Given the description of an element on the screen output the (x, y) to click on. 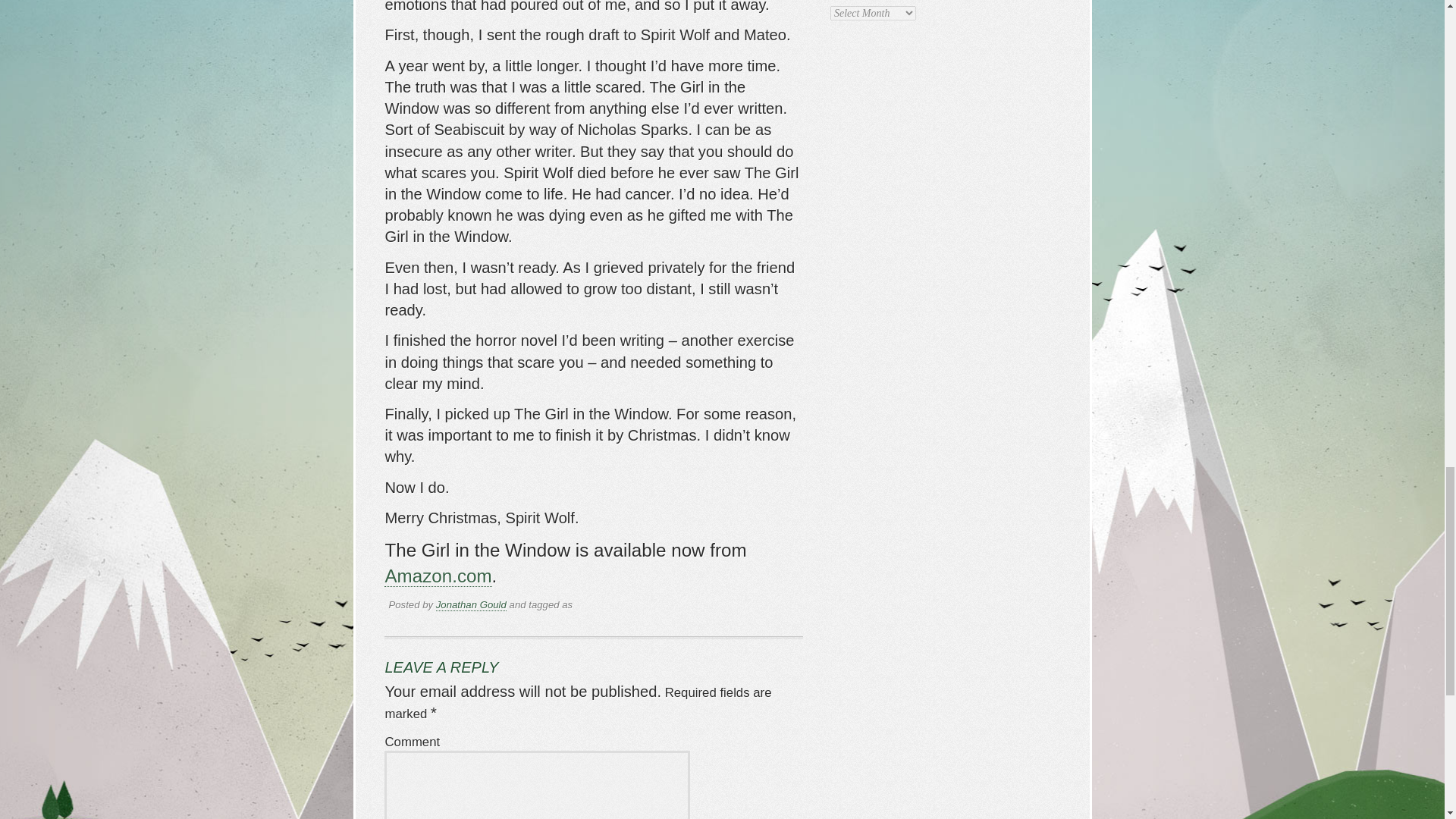
Jonathan Gould (470, 604)
Posts by Jonathan Gould (470, 604)
Amazon.com (438, 576)
